Given the description of an element on the screen output the (x, y) to click on. 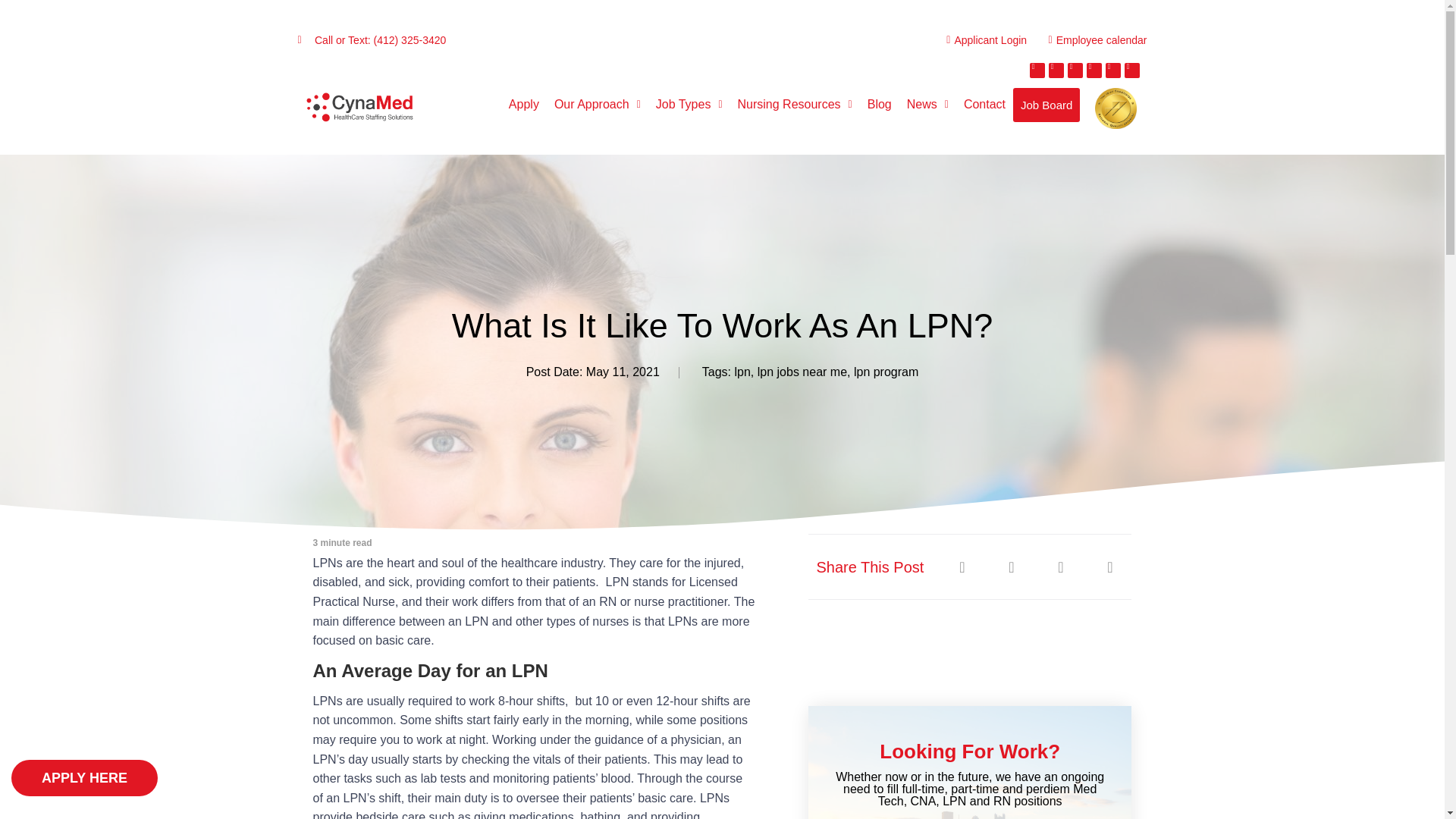
Our Approach (597, 104)
News (927, 104)
Nursing Resources (795, 104)
Blog (879, 104)
Apply (523, 104)
Employee calendar (1093, 39)
Applicant Login (981, 39)
Contact (984, 104)
Job Types (688, 104)
